Given the description of an element on the screen output the (x, y) to click on. 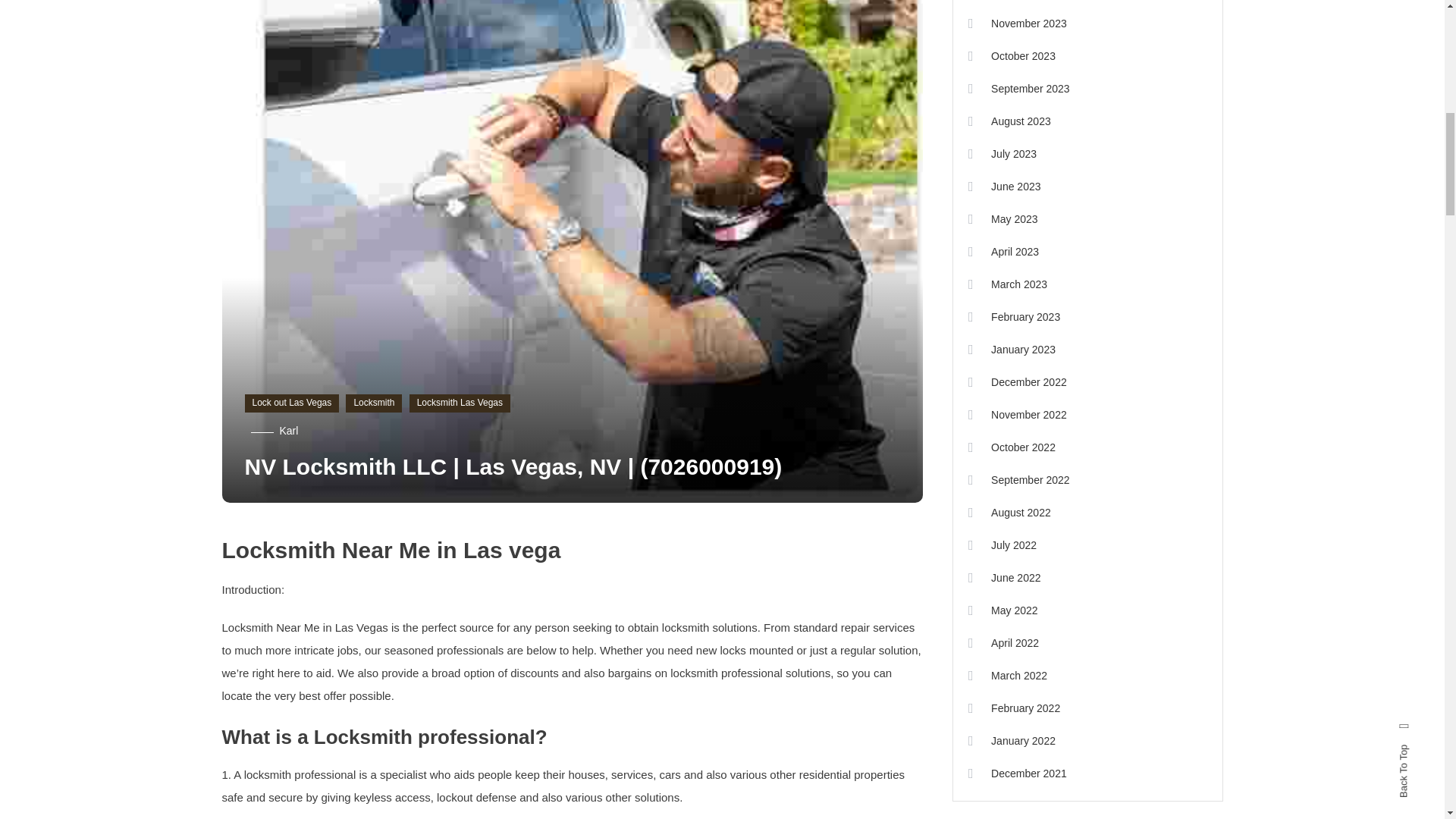
Locksmith (373, 402)
Lock out Las Vegas (291, 402)
Locksmith Las Vegas (460, 402)
